Given the description of an element on the screen output the (x, y) to click on. 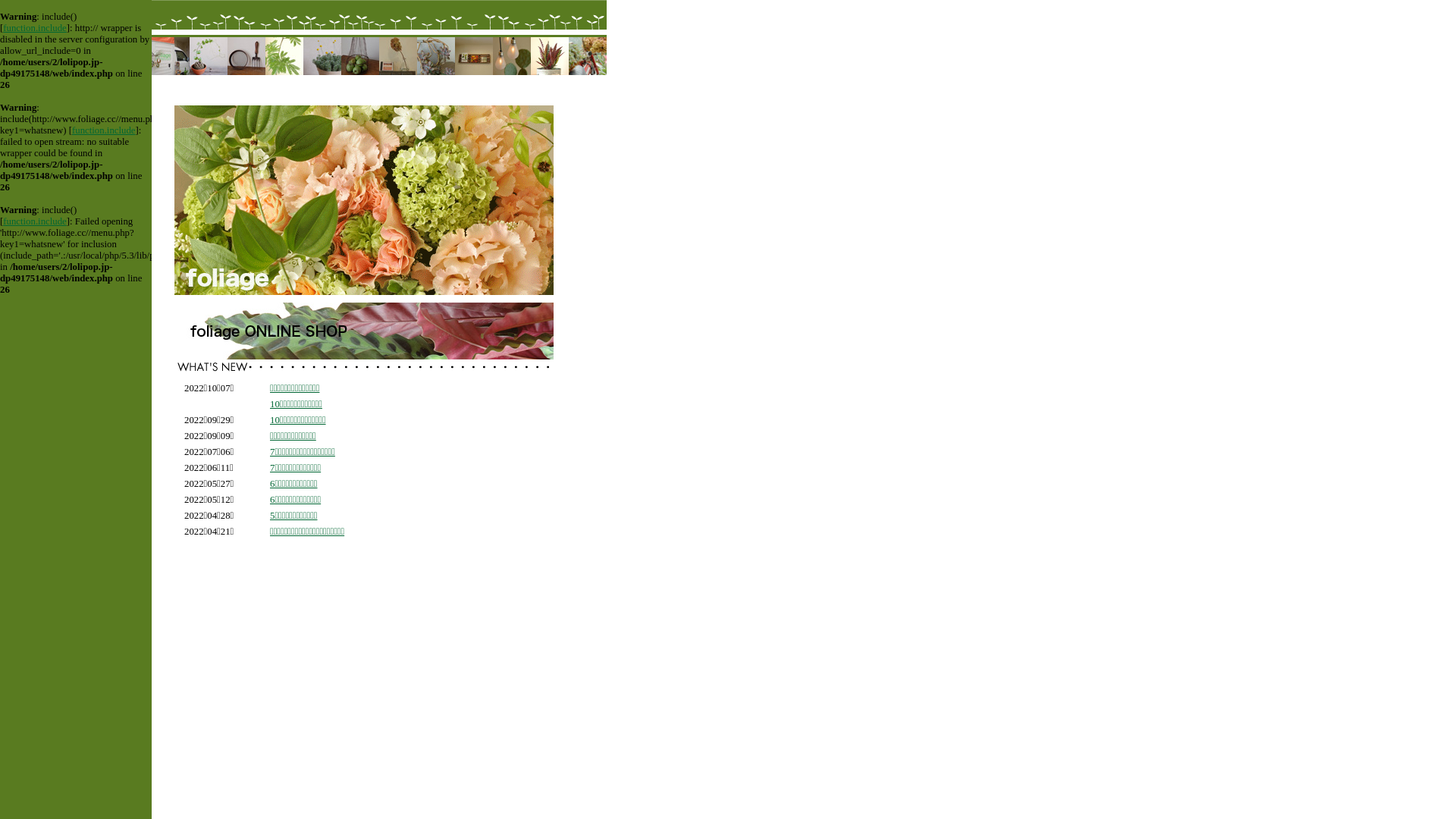
function.include Element type: text (34, 27)
function.include Element type: text (103, 130)
function.include Element type: text (34, 221)
